Given the description of an element on the screen output the (x, y) to click on. 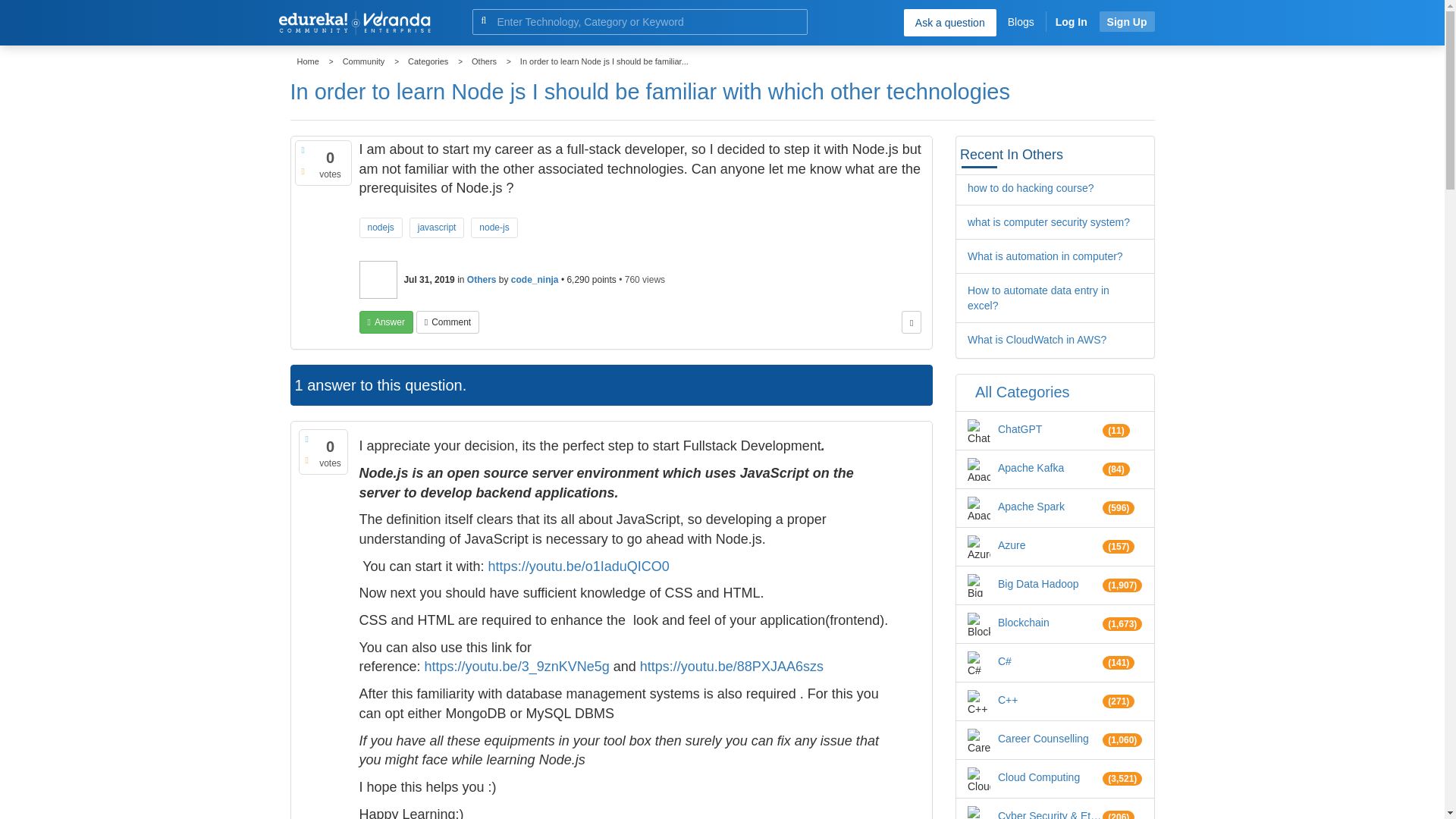
Ask a question (949, 22)
Add a comment on this question (447, 322)
Answer this question (386, 322)
Blogs (1020, 21)
